Given the description of an element on the screen output the (x, y) to click on. 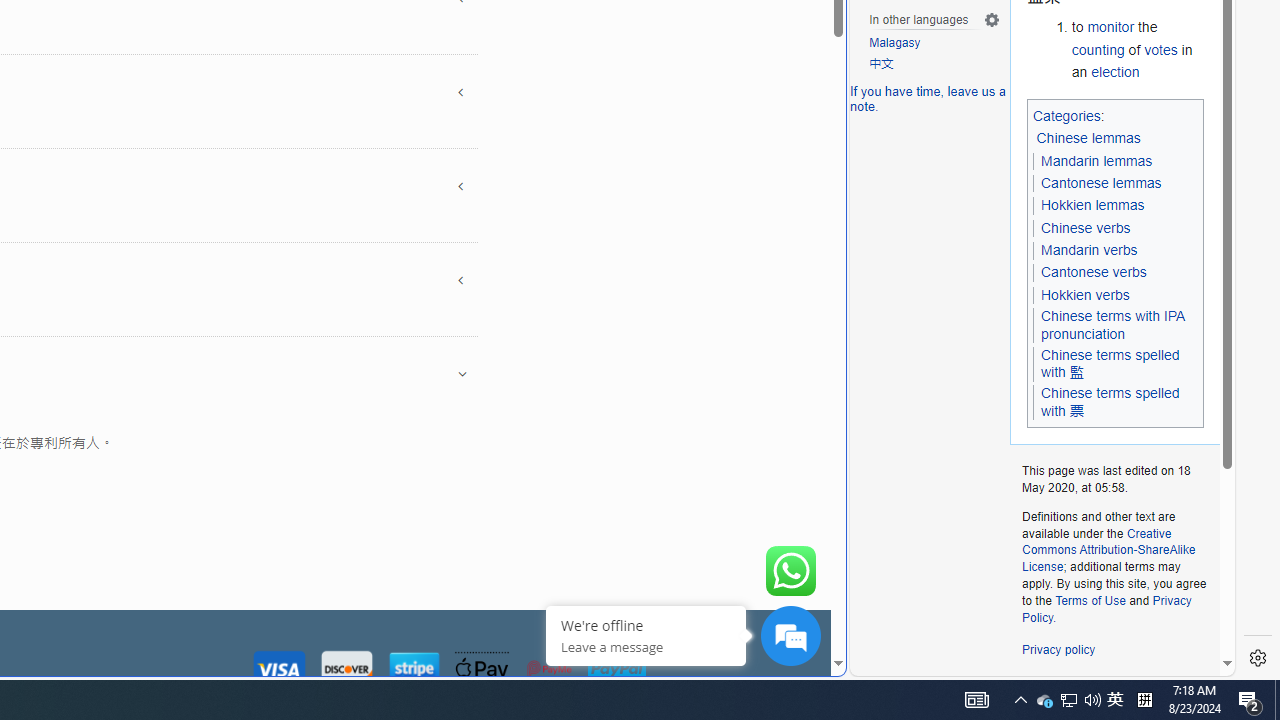
Cantonese lemmas (1101, 182)
to monitor the counting of votes in an election (1137, 49)
Malagasy (895, 43)
Mandarin verbs (1088, 250)
Cantonese verbs (1093, 272)
Disclaimers (1154, 686)
Language settings (992, 19)
Cantonese verbs (1093, 273)
Chinese verbs (1084, 228)
election (1115, 71)
google_privacy_policy_zh-CN.pdf (687, 482)
counting (1098, 49)
